Given the description of an element on the screen output the (x, y) to click on. 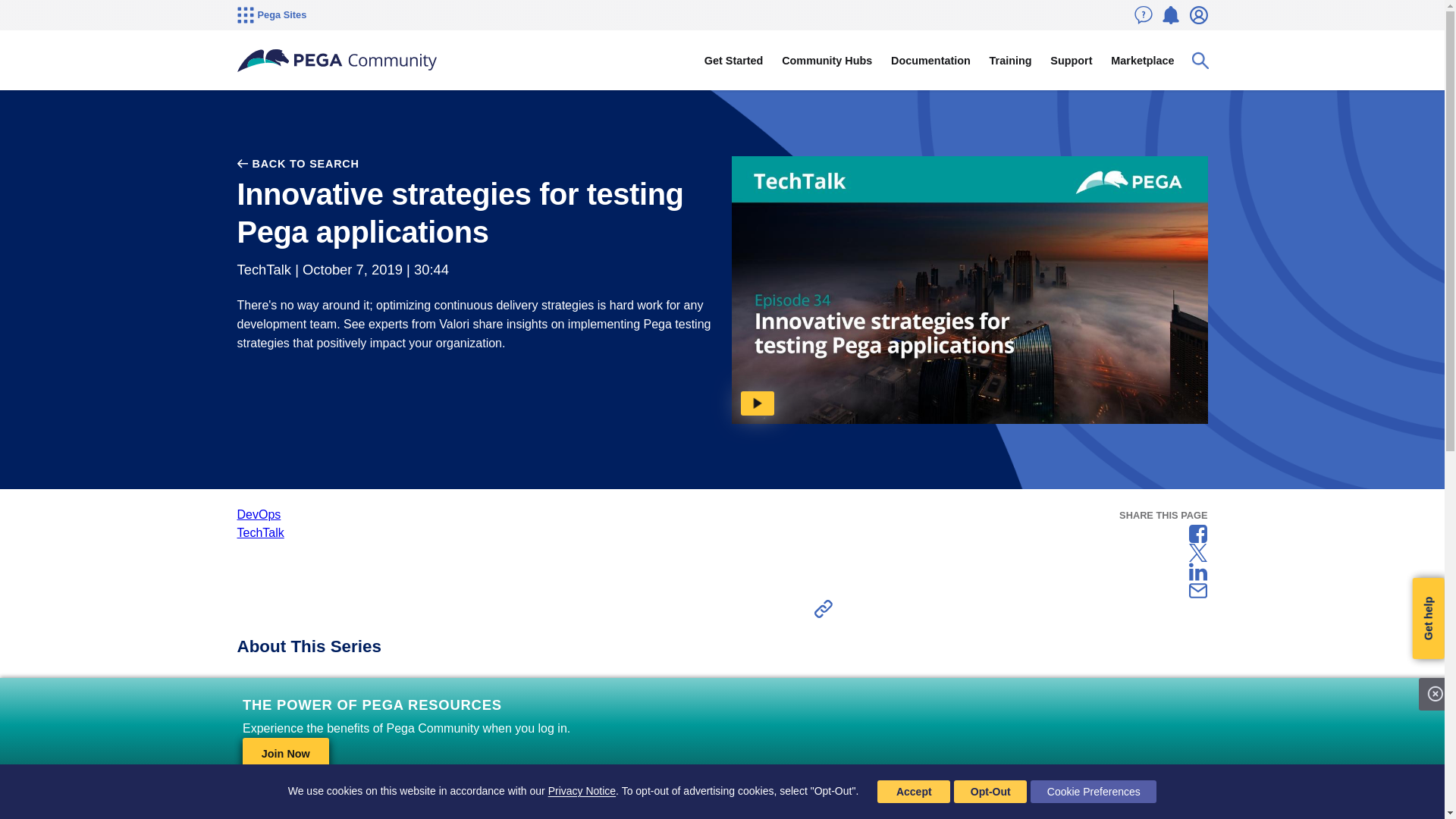
Get Started (732, 60)
Community Hubs (827, 60)
Toggle Search Panel (1200, 60)
